Given the description of an element on the screen output the (x, y) to click on. 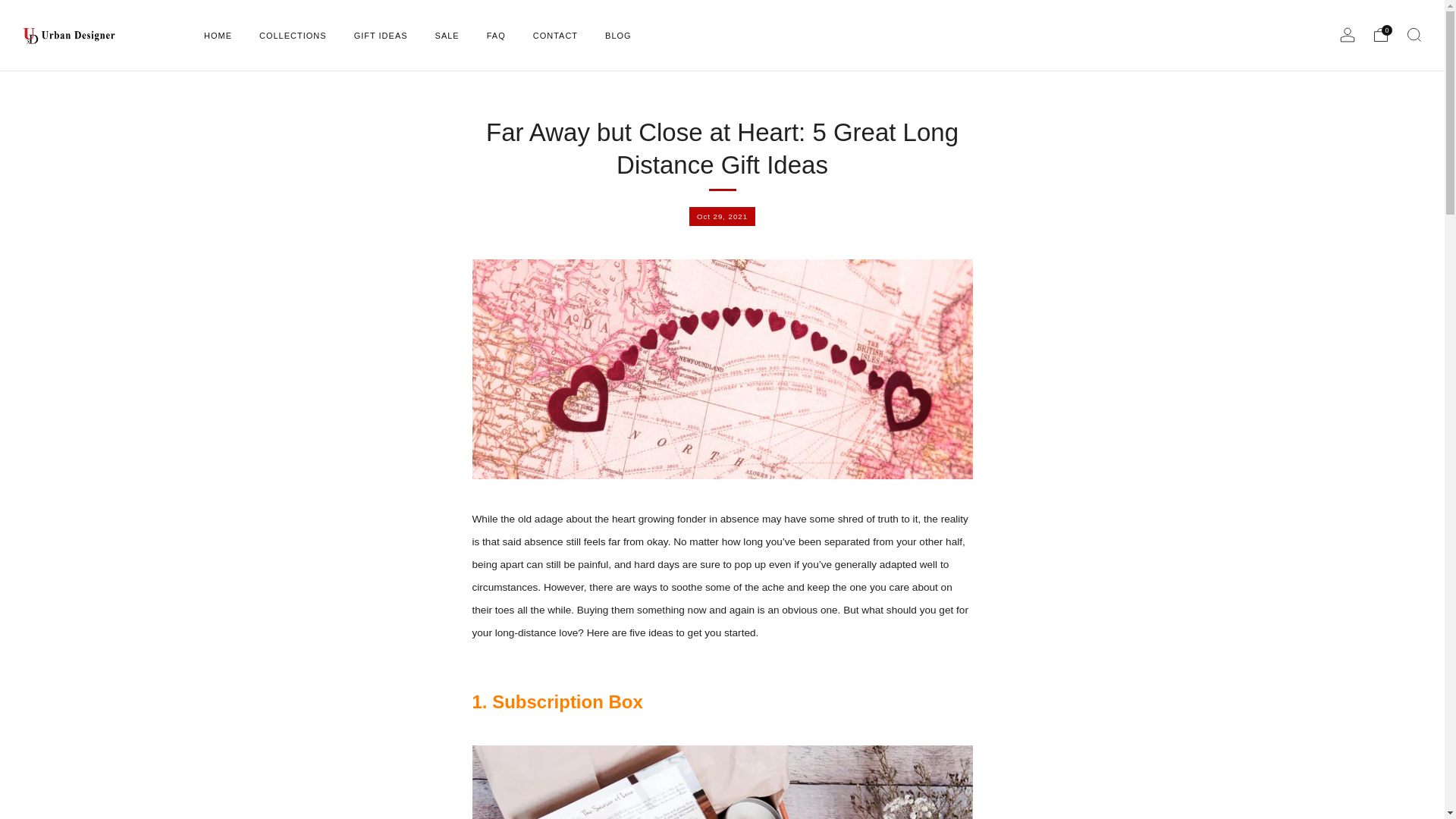
CONTACT (555, 34)
GIFT IDEAS (380, 34)
0 (1381, 34)
BLOG (618, 34)
COLLECTIONS (292, 34)
SALE (447, 34)
HOME (217, 34)
